Given the description of an element on the screen output the (x, y) to click on. 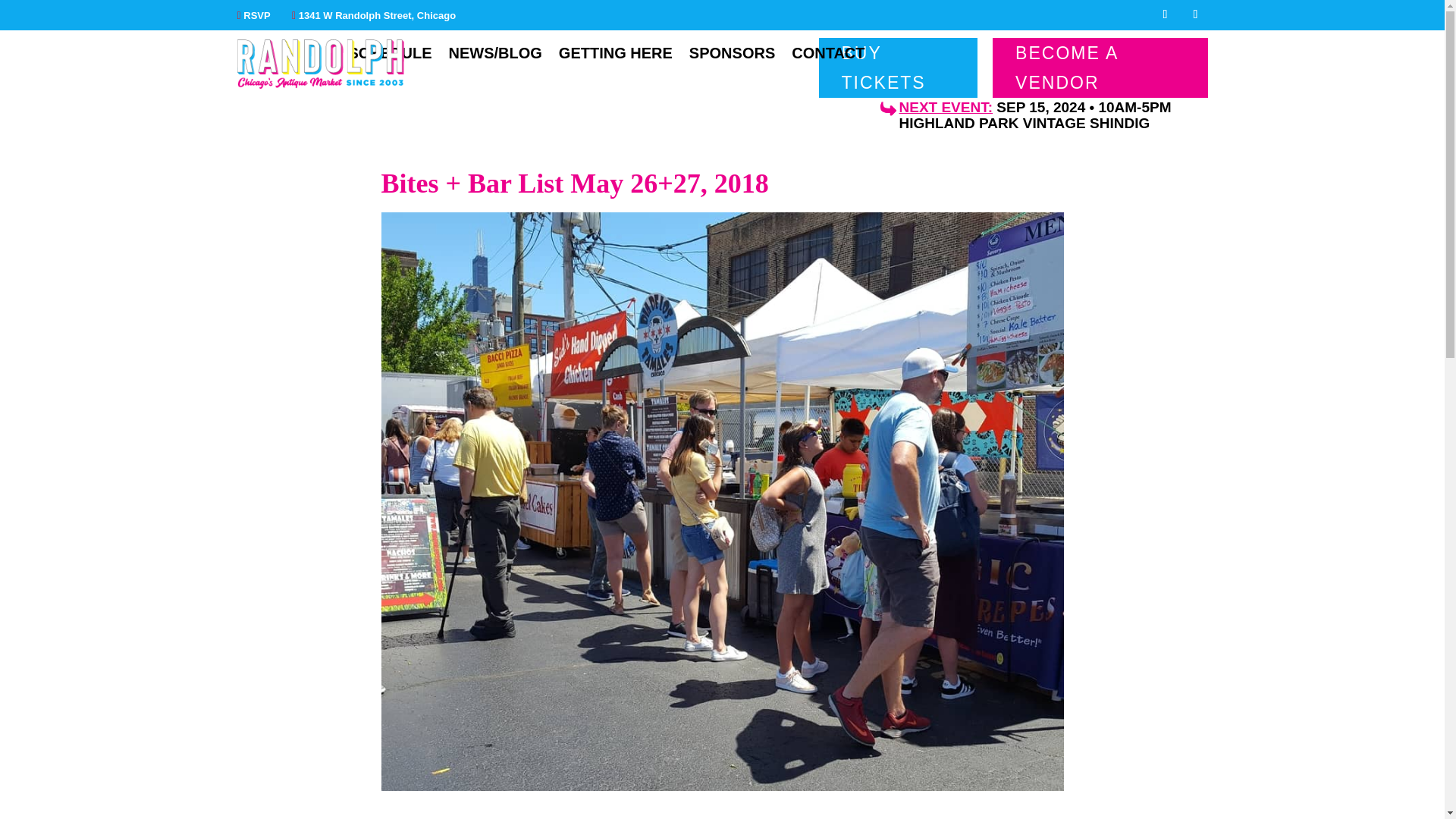
CONTACT (828, 55)
SPONSORS (731, 55)
BUY TICKETS (898, 67)
SCHEDULE (388, 55)
Follow on Facebook (1164, 14)
GETTING HERE (615, 55)
Follow on Instagram (1194, 14)
Randolph Street Market Festival Chicago (319, 63)
BECOME A VENDOR (1099, 67)
